Given the description of an element on the screen output the (x, y) to click on. 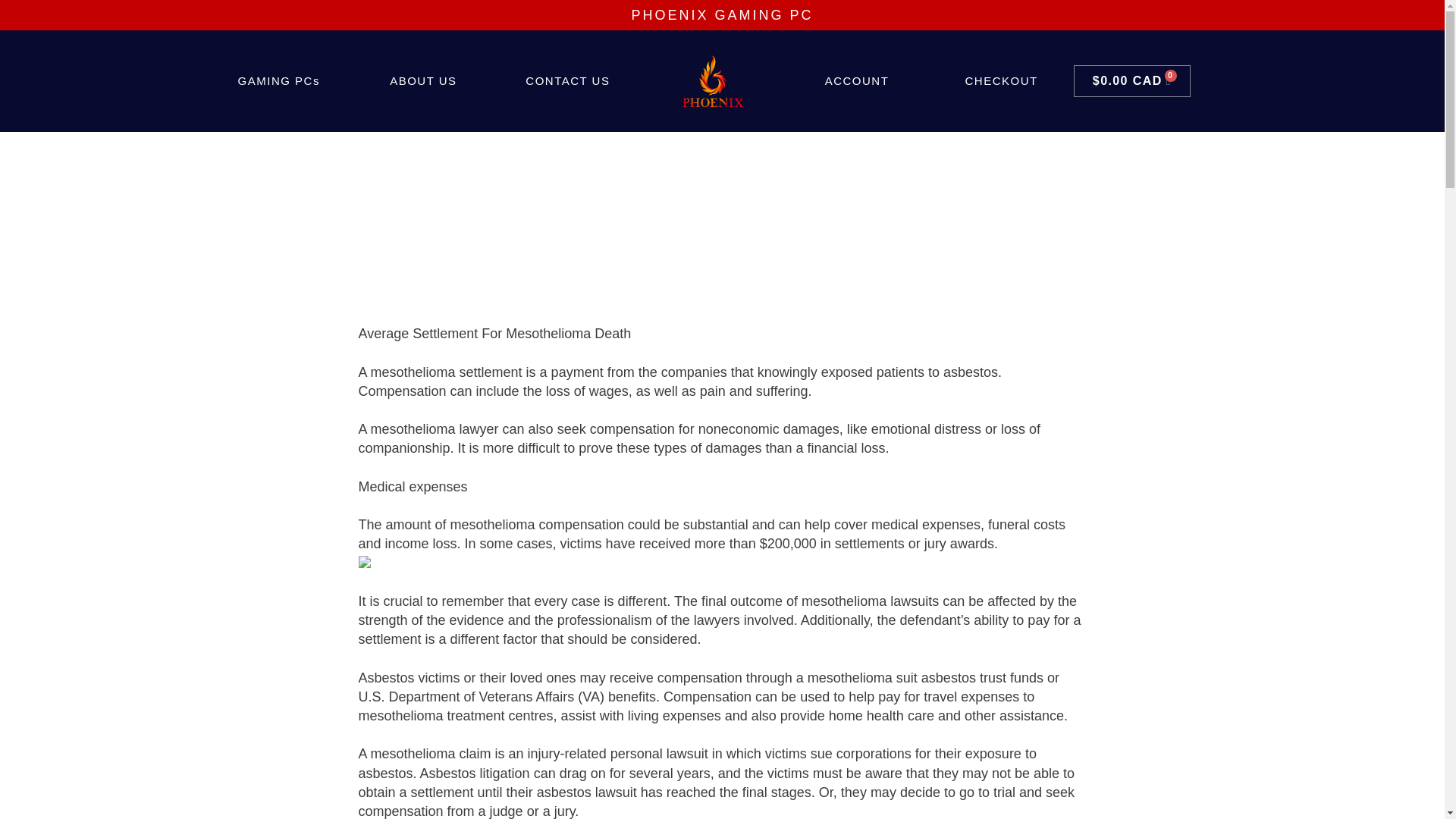
ACCOUNT (857, 80)
CONTACT US (568, 80)
CHECKOUT (1001, 80)
GAMING PCs (278, 80)
ABOUT US (423, 80)
